Given the description of an element on the screen output the (x, y) to click on. 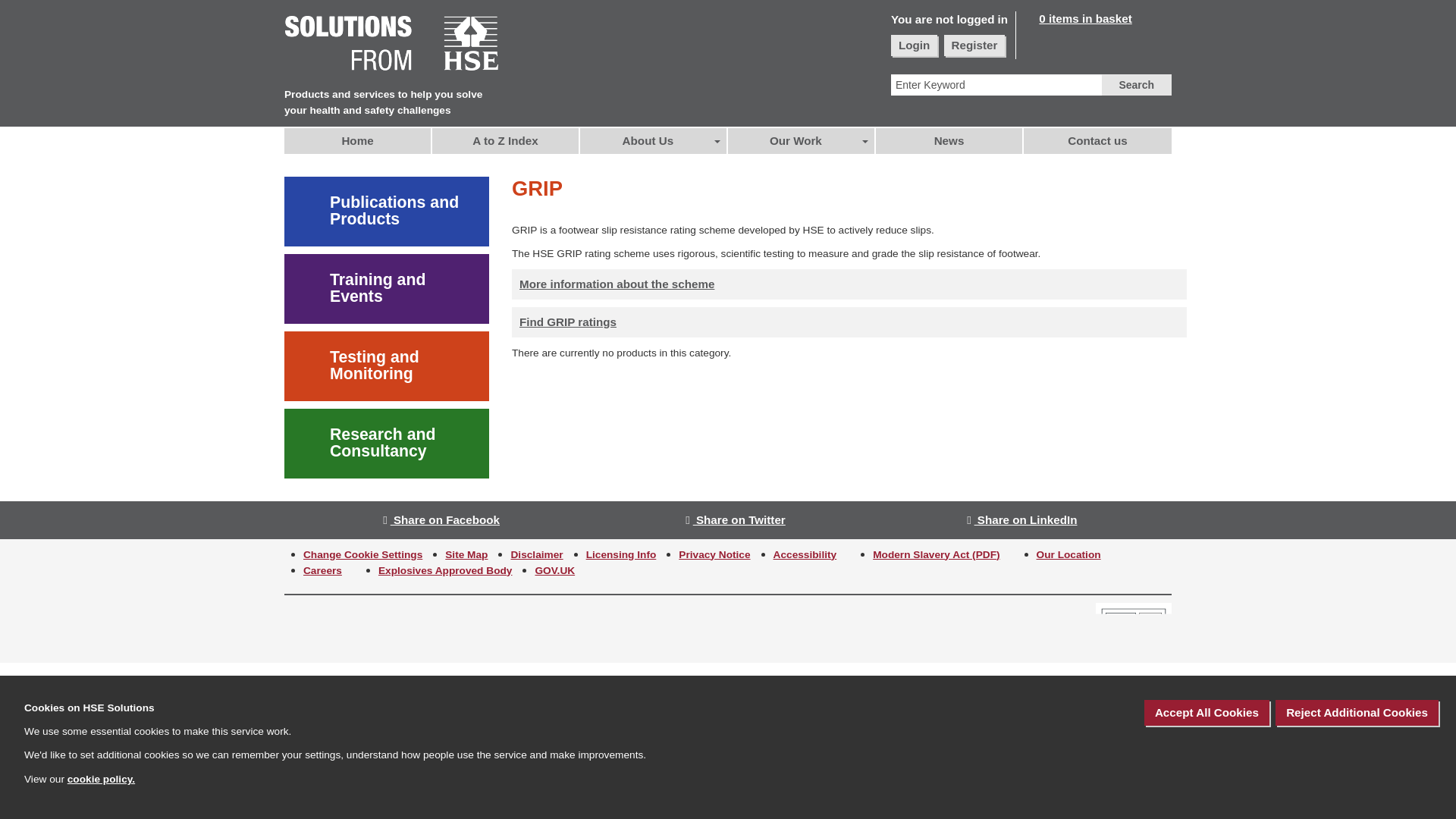
Enter Keyword (996, 84)
Register (974, 45)
Login (914, 45)
Search (1136, 84)
Search (1136, 84)
A to Z Index (505, 140)
Testing and Monitoring (386, 366)
News (949, 140)
Home (357, 140)
View items in basket (1077, 18)
Search (1136, 84)
Enter Keyword (996, 84)
Research and Consultancy (386, 443)
  Share on Facebook (440, 520)
More information about the scheme (616, 283)
